Given the description of an element on the screen output the (x, y) to click on. 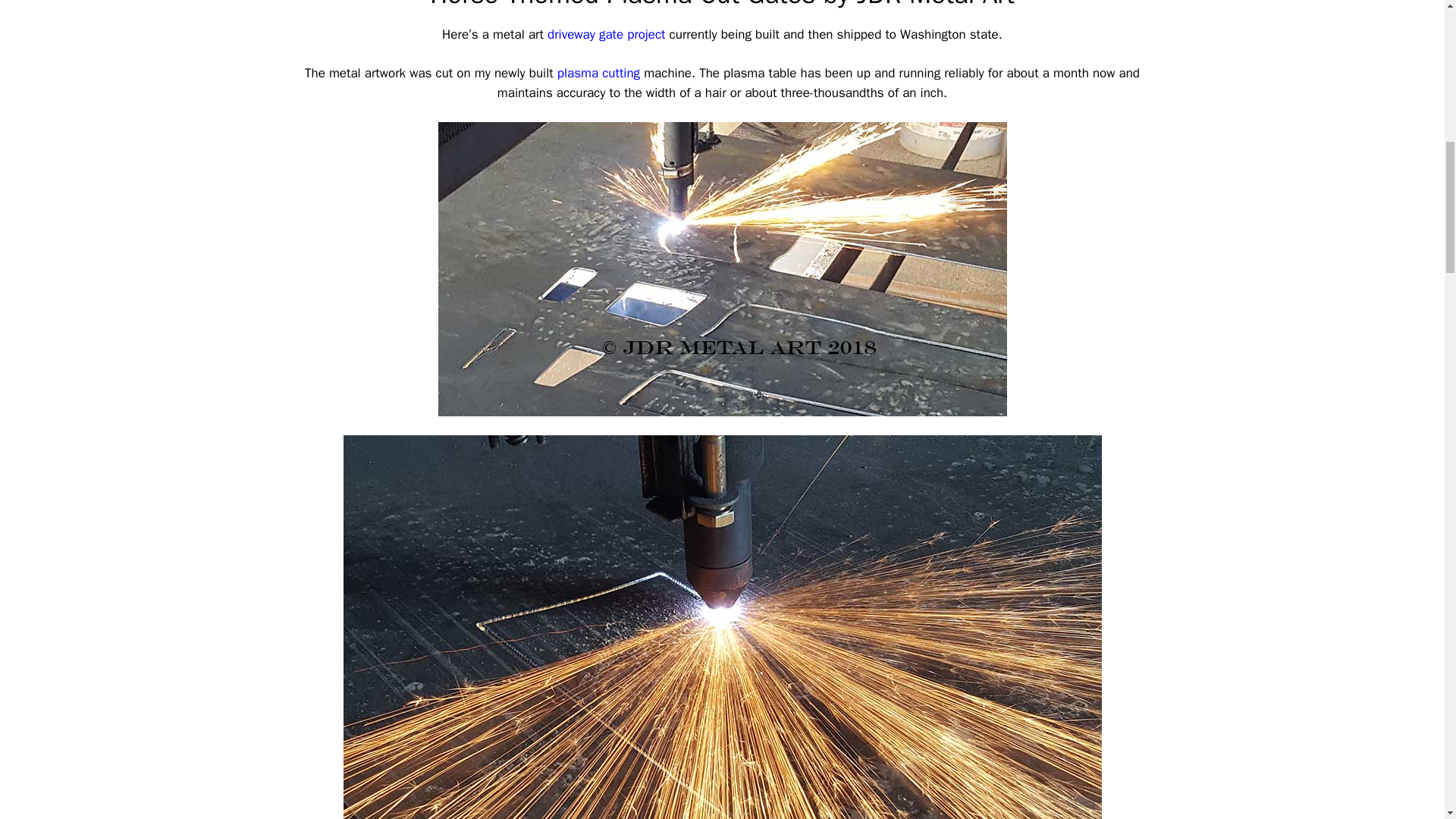
Scroll back to top (1406, 720)
